Given the description of an element on the screen output the (x, y) to click on. 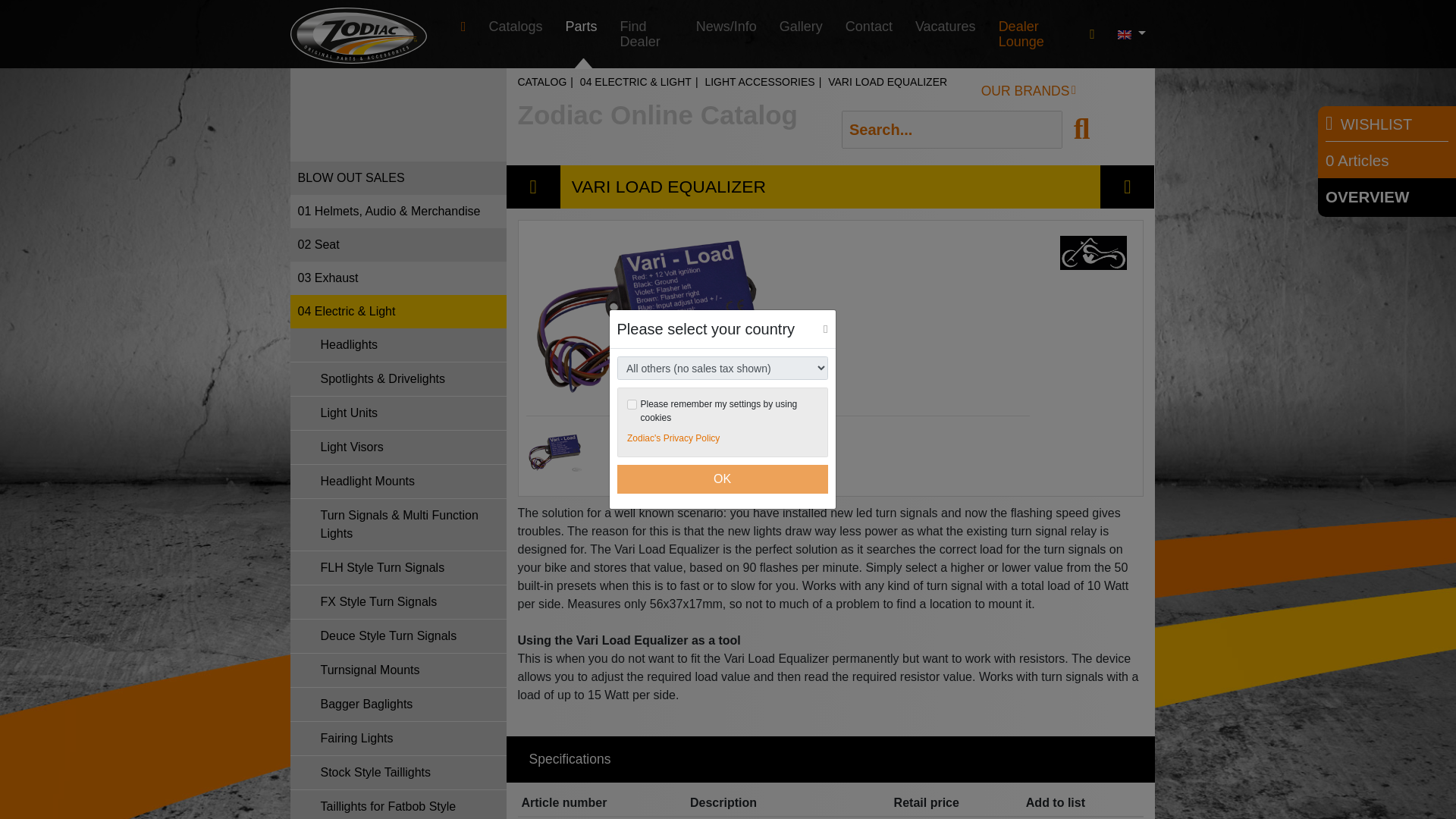
FLH Style Turn Signals (397, 568)
Headlights (397, 345)
Dealer Lounge (1032, 33)
02 Seat (397, 244)
Taillights for Fatbob Style Fenders (397, 804)
Light Units (397, 413)
English (1130, 33)
03 Exhaust (397, 277)
Go to BLOW OUT SALES (397, 177)
Stock Style Taillights (397, 772)
Light Visors (397, 447)
Please select your country (1092, 33)
Go to Headlights (397, 345)
English (1124, 34)
BLOW OUT SALES (397, 177)
